Given the description of an element on the screen output the (x, y) to click on. 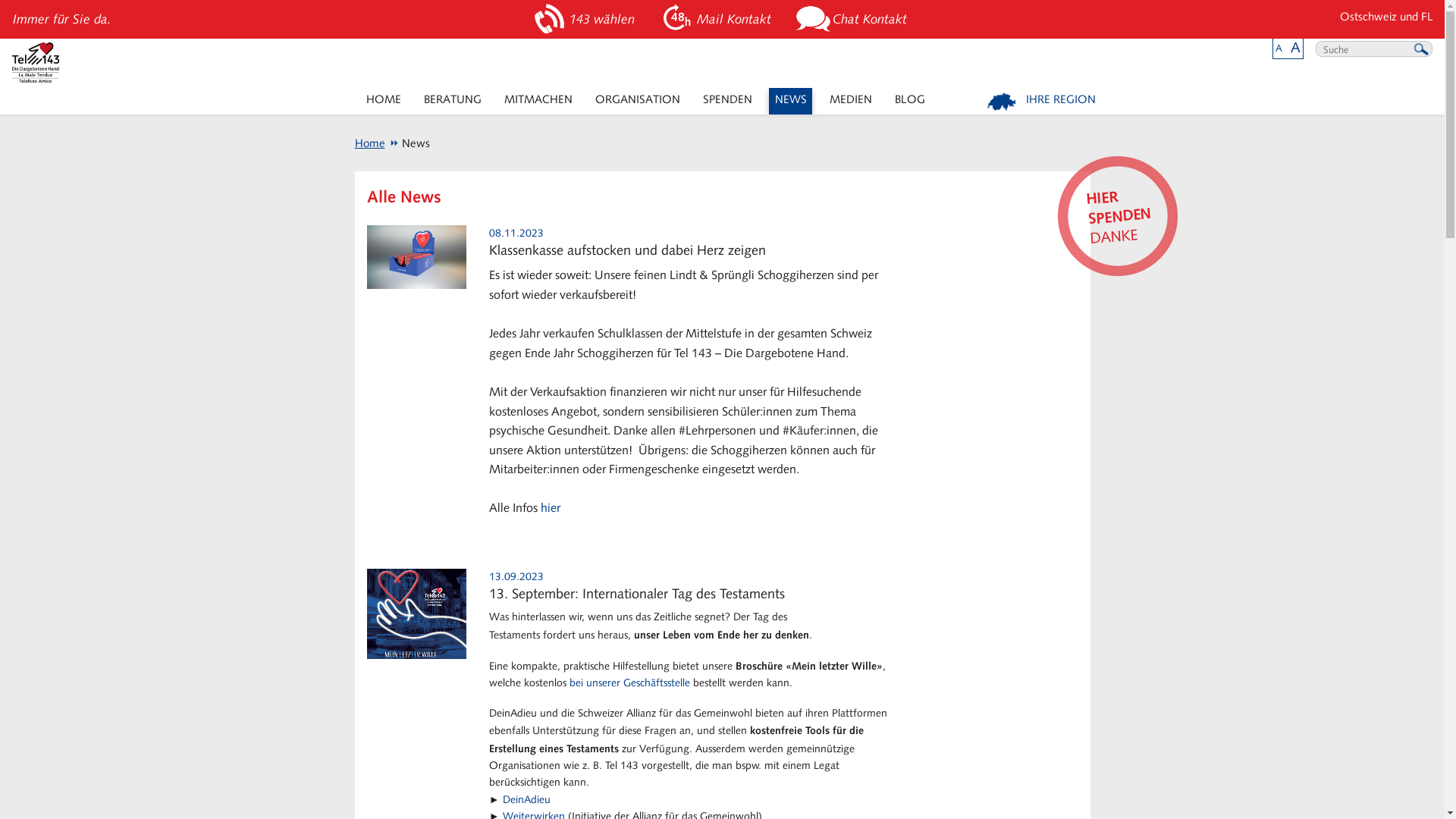
ORGANISATION Element type: text (637, 100)
DeinAdieu Element type: text (526, 799)
A Element type: text (1295, 47)
Mail Kontakt Element type: text (717, 19)
MEDIEN Element type: text (850, 100)
IHRE REGION Element type: text (1041, 100)
MITMACHEN Element type: text (537, 100)
A Element type: text (1278, 47)
SPENDEN Element type: text (726, 100)
BERATUNG Element type: text (451, 100)
NEWS Element type: text (790, 100)
Chat Kontakt Element type: text (853, 19)
BLOG Element type: text (909, 100)
HIER SPENDEN DANKE Element type: text (1113, 212)
News Element type: text (408, 143)
hier Element type: text (550, 507)
Home Element type: text (369, 143)
HOME Element type: text (383, 100)
